Given the description of an element on the screen output the (x, y) to click on. 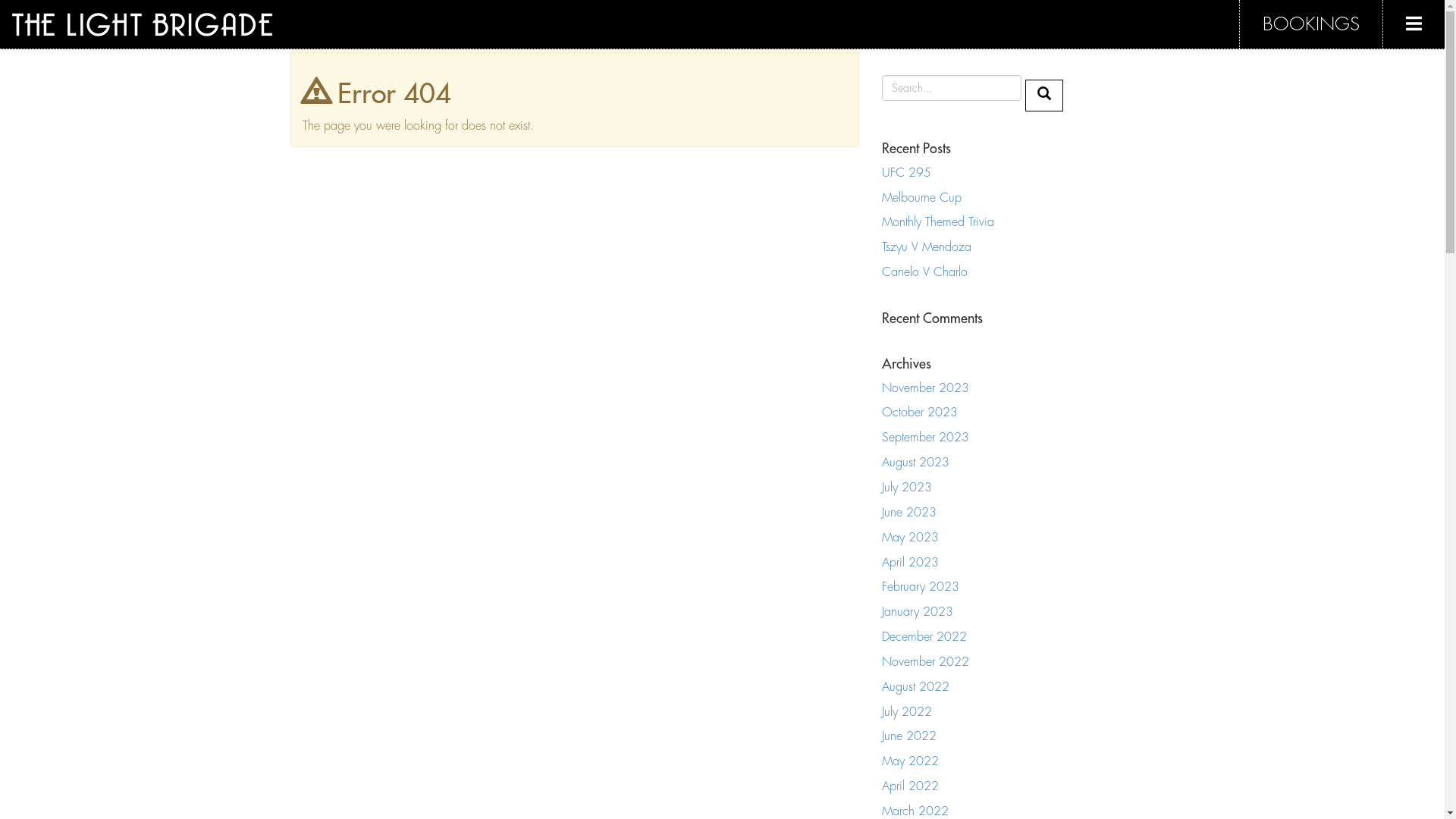
Search Element type: text (1044, 95)
UFC 295 Element type: text (905, 172)
July 2022 Element type: text (906, 712)
September 2023 Element type: text (924, 437)
August 2022 Element type: text (914, 686)
February 2023 Element type: text (919, 586)
November 2023 Element type: text (924, 388)
July 2023 Element type: text (906, 487)
May 2023 Element type: text (909, 537)
Canelo V Charlo Element type: text (923, 272)
June 2022 Element type: text (908, 736)
January 2023 Element type: text (916, 611)
November 2022 Element type: text (924, 661)
June 2023 Element type: text (908, 512)
May 2022 Element type: text (909, 761)
December 2022 Element type: text (923, 636)
March 2022 Element type: text (914, 811)
April 2022 Element type: text (909, 786)
Melbourne Cup Element type: text (920, 197)
August 2023 Element type: text (914, 462)
October 2023 Element type: text (919, 412)
Monthly Themed Trivia Element type: text (937, 222)
Tszyu V Mendoza Element type: text (925, 247)
BOOKINGS Element type: text (1310, 24)
April 2023 Element type: text (909, 562)
